Given the description of an element on the screen output the (x, y) to click on. 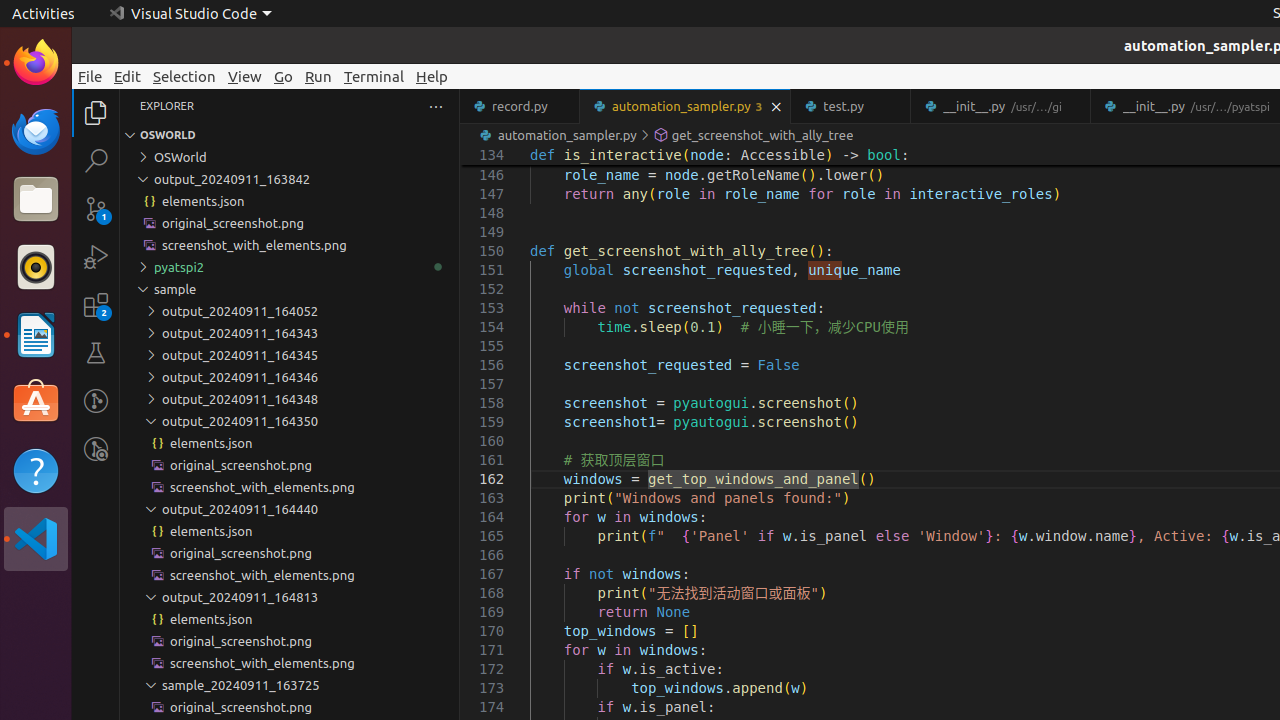
Testing Element type: page-tab (96, 353)
output_20240911_163842 Element type: tree-item (289, 179)
test.py Element type: page-tab (851, 106)
Run and Debug (Ctrl+Shift+D) Element type: page-tab (96, 257)
record.py Element type: page-tab (520, 106)
